Given the description of an element on the screen output the (x, y) to click on. 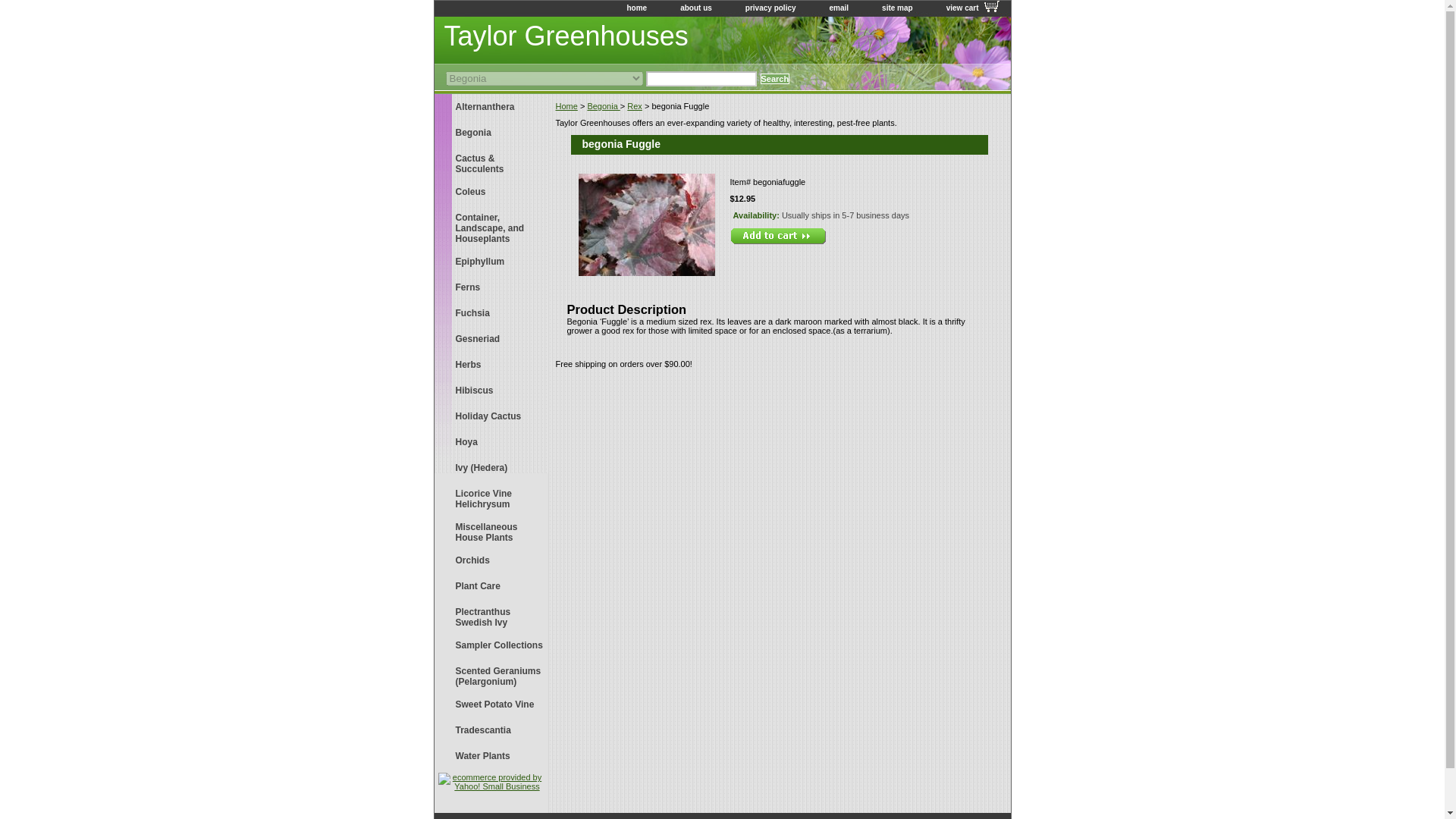
Licorice Vine Helichrysum (490, 497)
Plant Care (490, 585)
Alternanthera (490, 106)
Begonia (490, 132)
Alternanthera (490, 106)
Fuchsia (490, 312)
Taylor Greenhouses (622, 38)
site map (897, 8)
Ferns (490, 287)
Orchids (490, 560)
Miscellaneous House Plants (490, 530)
Hoya (490, 442)
Epiphyllum (490, 261)
Rex (634, 105)
view cart (968, 8)
